Given the description of an element on the screen output the (x, y) to click on. 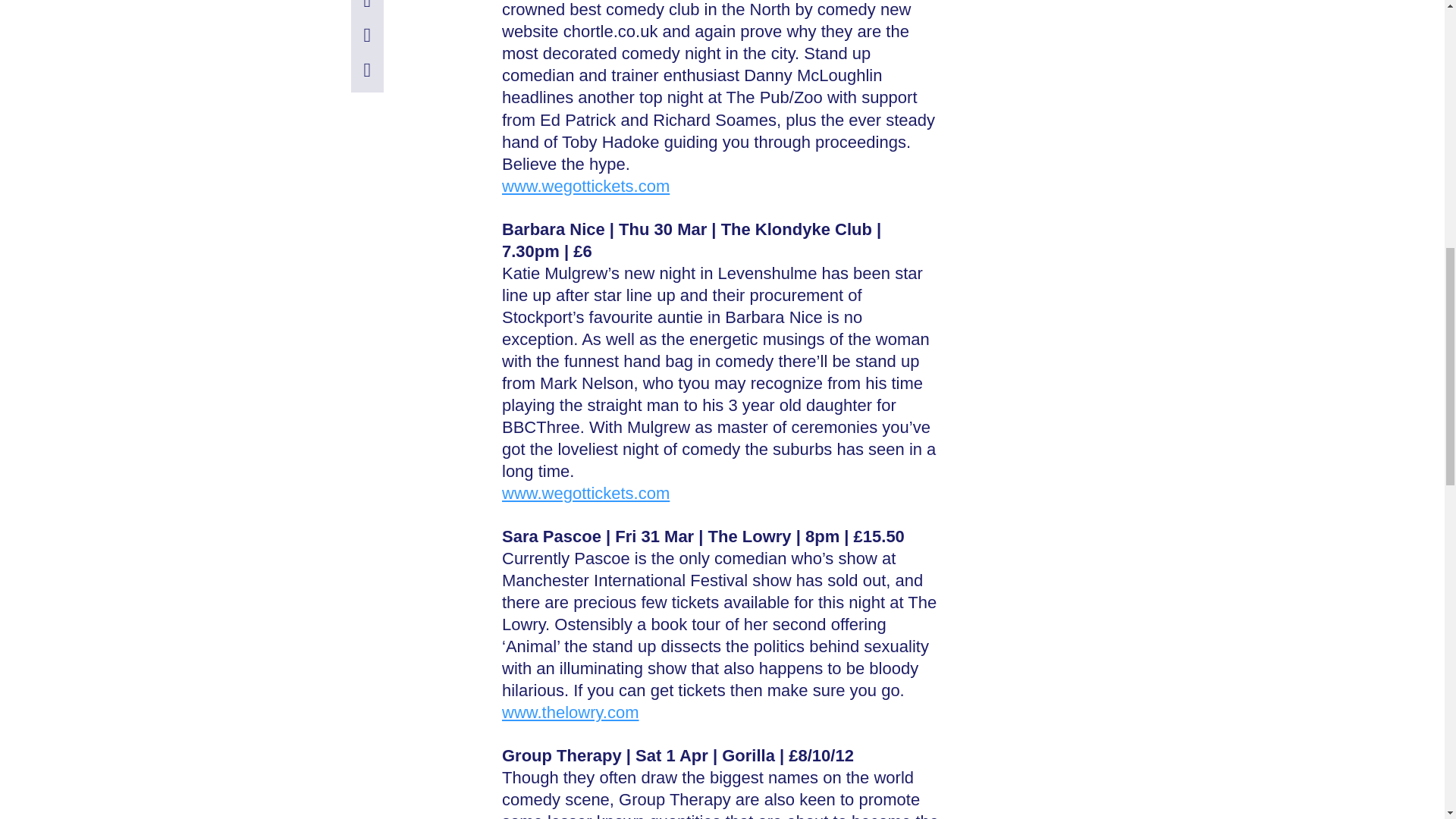
www.thelowry.com (570, 711)
www.wegottickets.com (585, 185)
www.wegottickets.com (585, 493)
